Given the description of an element on the screen output the (x, y) to click on. 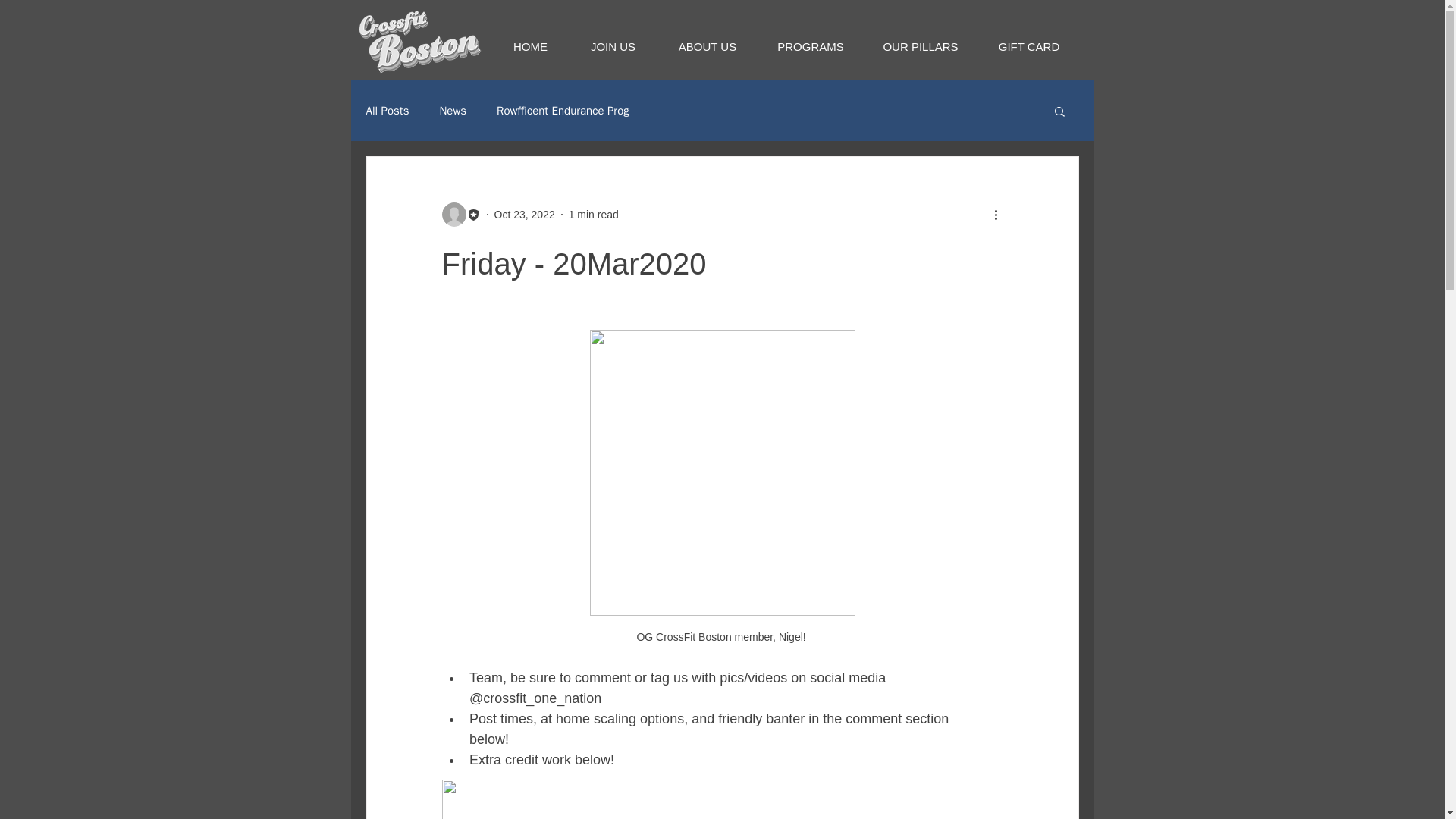
Oct 23, 2022 (524, 214)
All Posts (387, 110)
HOME (530, 39)
Rowfficent Endurance Prog (562, 110)
1 min read (593, 214)
OUR PILLARS (919, 39)
News (452, 110)
